Given the description of an element on the screen output the (x, y) to click on. 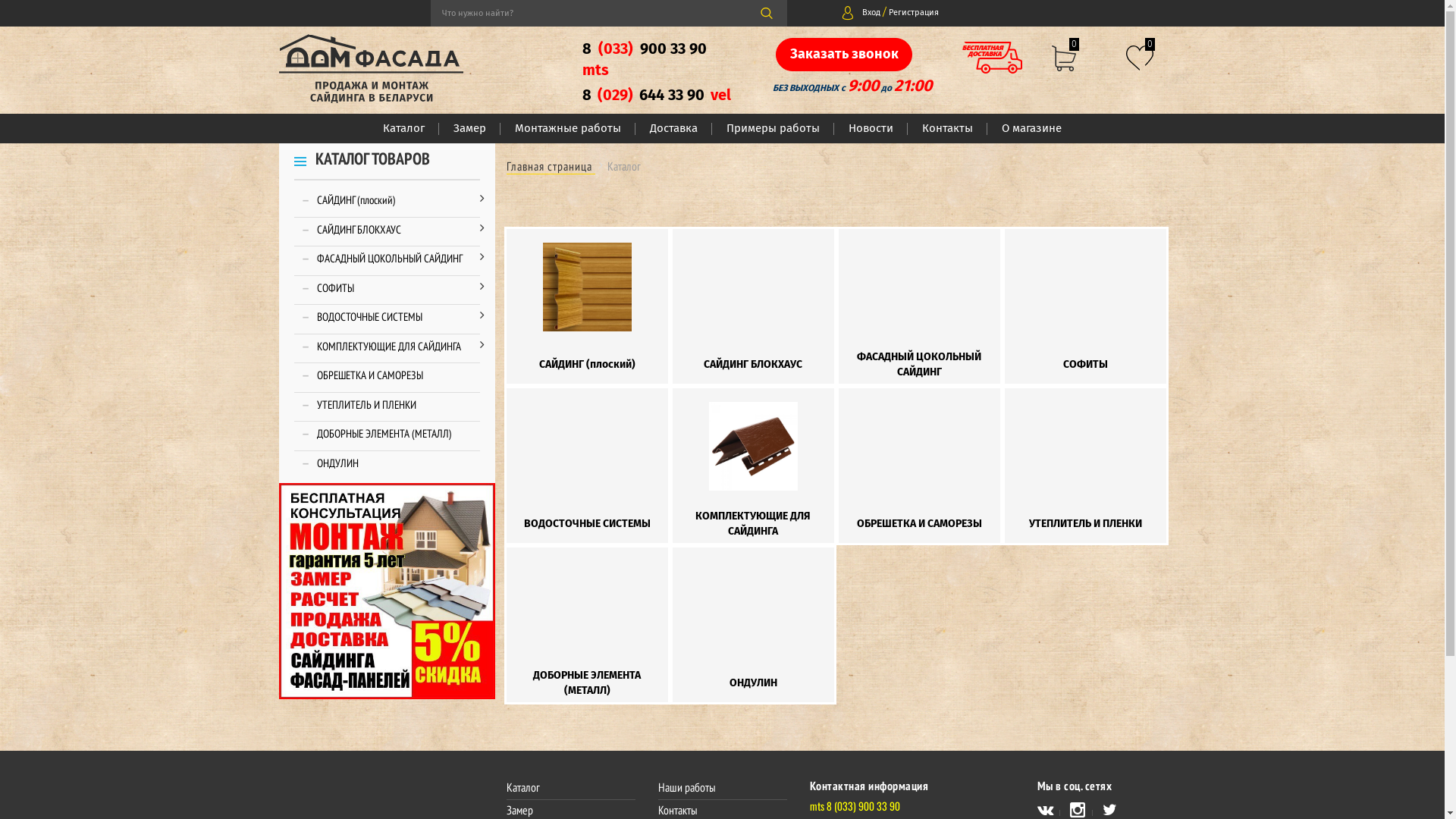
0 Element type: text (1139, 52)
mts 8 (033) 900 33 90 Element type: text (854, 806)
8  (029)  644 33 90  vel Element type: text (658, 109)
8  (033)  900 33 90 mts Element type: text (658, 71)
0 Element type: text (1063, 52)
